Given the description of an element on the screen output the (x, y) to click on. 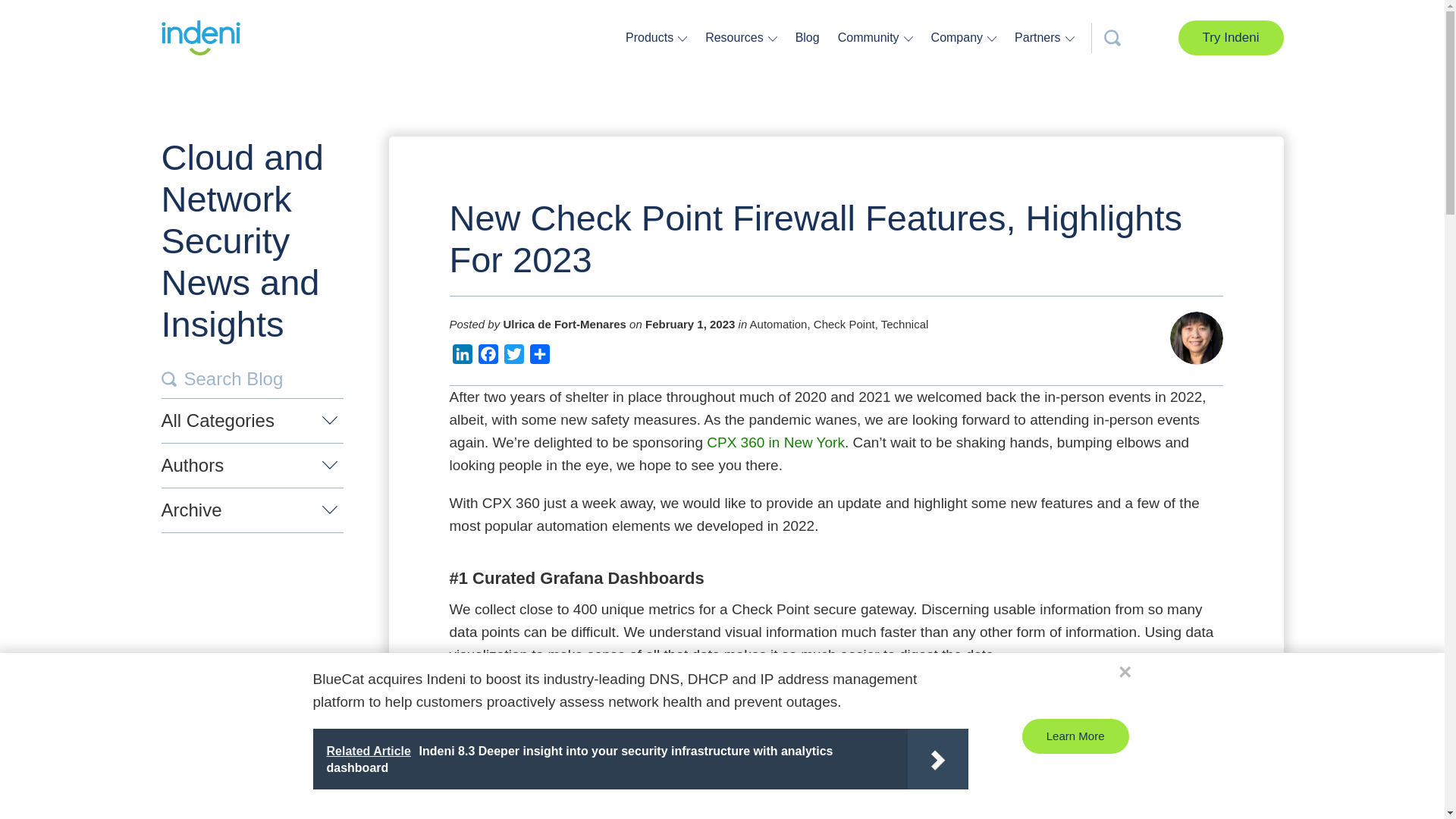
Try Indeni (1230, 37)
Community (870, 37)
Resources (735, 37)
Search (168, 378)
Indeni (200, 37)
Indeni (200, 37)
Products (651, 37)
Subscribe Now (739, 530)
